Given the description of an element on the screen output the (x, y) to click on. 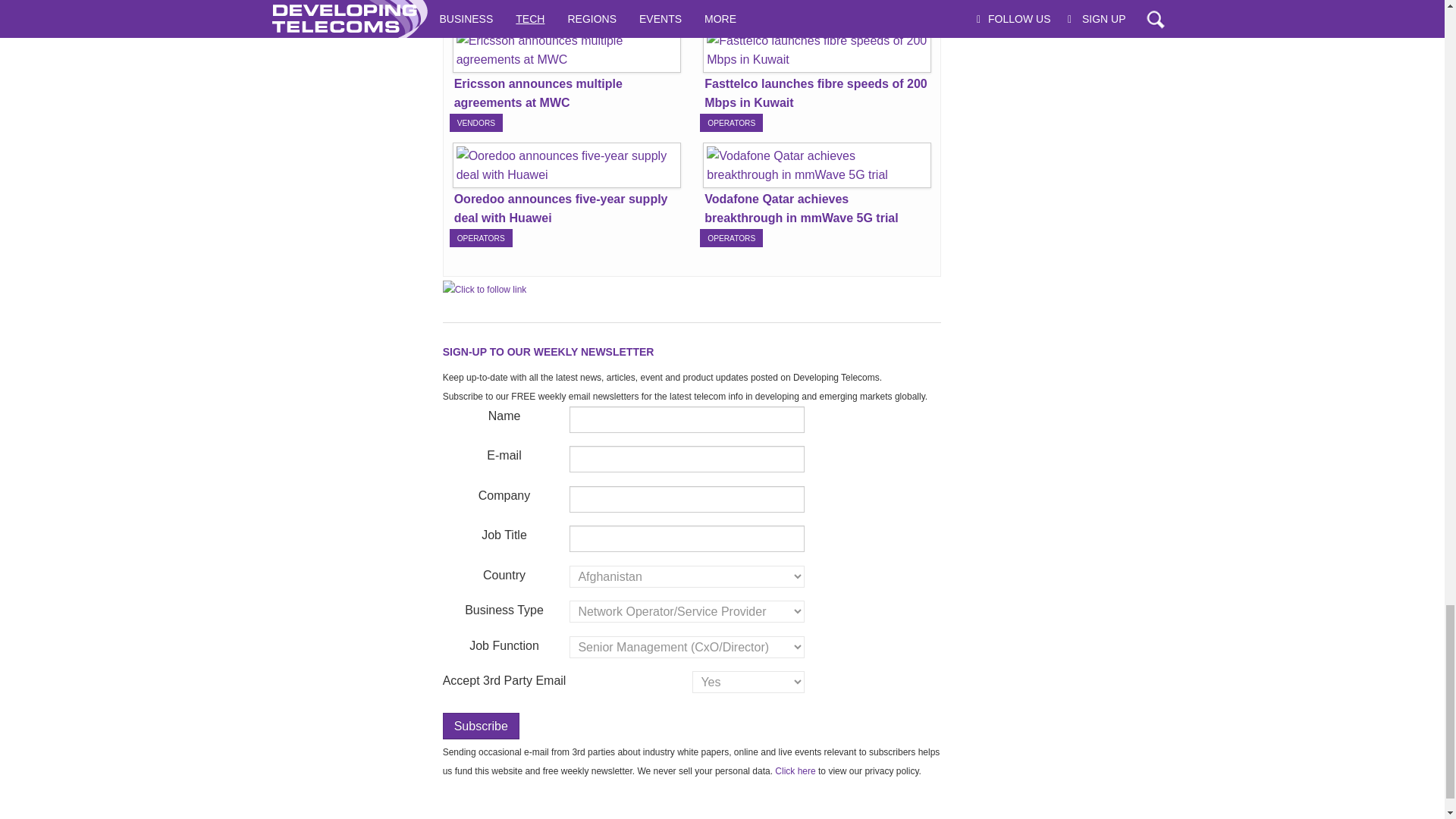
Subscribe (480, 725)
